Given the description of an element on the screen output the (x, y) to click on. 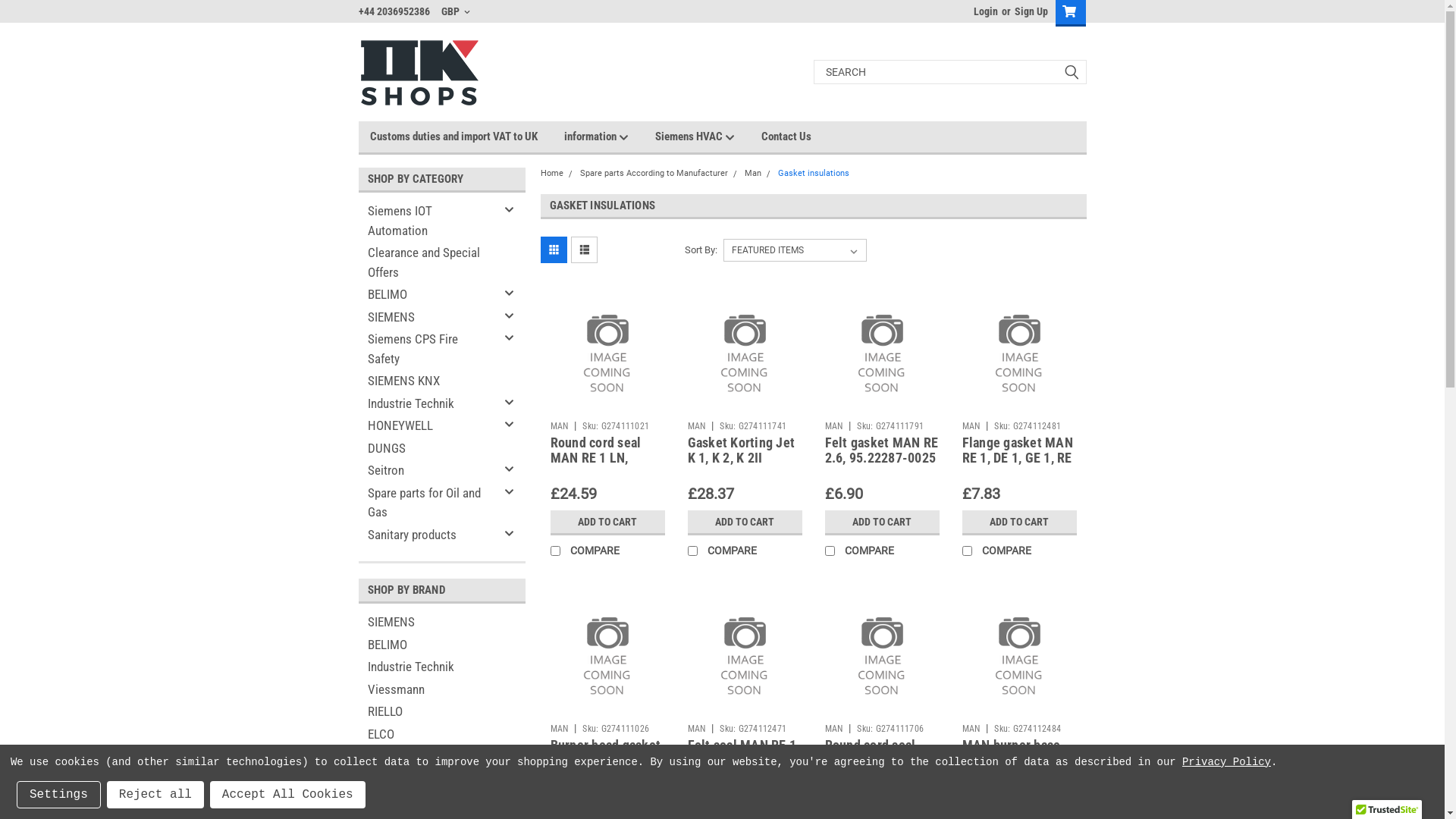
Reject all Element type: text (154, 794)
Gasket insulations Element type: text (813, 173)
Industrie Technik Element type: text (441, 666)
Sku: G274111026 Element type: text (615, 728)
MAN Element type: text (970, 425)
MAN Element type: text (834, 728)
HONEYWELL Element type: text (428, 425)
Siemens IOT Automation Element type: text (428, 220)
Sku: G274111021 Element type: text (615, 425)
Sku: G274111706 Element type: text (889, 728)
MAN Element type: text (559, 728)
ELCO Element type: text (441, 734)
GROHE Element type: text (441, 778)
Viessmann Element type: text (441, 688)
submit Element type: hover (1070, 71)
BELIMO Element type: text (428, 294)
MAN burner base plate seal GWB 28 96.00025-1220 Element type: text (1012, 760)
RIELLO Element type: text (441, 711)
Industrie Technik Element type: text (428, 403)
Seitron Element type: text (428, 470)
DUNGS Element type: text (428, 447)
ADD TO CART Element type: text (607, 521)
Privacy Policy Element type: text (1226, 762)
Sanitary products Element type: text (428, 534)
MAN Element type: text (834, 425)
ADD TO CART Element type: text (1018, 521)
Home Element type: text (550, 173)
Sku: G274112484 Element type: text (1027, 728)
Man Element type: text (752, 173)
Settings Element type: text (58, 794)
SIEMENS Element type: text (428, 317)
Felt seal MAN RE 1 95.22287-0041 Element type: text (741, 752)
Siemens CPS Fire Safety Element type: text (428, 349)
ADD TO CART Element type: text (882, 521)
Buderus Element type: text (441, 801)
2kshops Heating and Cooling (HVAC) supplies Element type: hover (418, 71)
Flange gasket MAN RE 1, DE 1, GE 1, RE 1 LN, 95.22287-0031 Element type: text (1016, 464)
Clearance and Special Offers Element type: text (428, 262)
Contact Us Element type: text (799, 136)
Sku: G274111741 Element type: text (752, 425)
MAN Element type: text (696, 728)
BELIMO Element type: text (441, 644)
Login Element type: text (985, 11)
Burner head gasket MAN RE 1.19 H- 1.70 H, 95.22287-0040 Element type: text (605, 768)
Felt gasket MAN RE 2.6, 95.22287-0025 Element type: text (881, 449)
GBP Element type: text (455, 11)
ADD TO CART Element type: text (744, 521)
Gasket Korting Jet K 1, K 2, K 2II 782756 Element type: text (740, 457)
DUNGS Element type: text (441, 756)
MAN Element type: text (970, 728)
Sku: G274111791 Element type: text (889, 425)
MAN Element type: text (559, 425)
SIEMENS Element type: text (441, 622)
Sign Up Element type: text (1028, 11)
Round cord seal MAN RE 1 LN, 95.2287-0035 Element type: text (595, 457)
MAN Element type: text (696, 425)
Siemens HVAC Element type: text (708, 136)
Spare parts for Oil and Gas Element type: text (428, 503)
Customs duties and import VAT to UK Element type: text (467, 136)
Sku: G274112481 Element type: text (1027, 425)
SIEMENS KNX Element type: text (428, 381)
Accept All Cookies Element type: text (287, 794)
Round cord seal MAN RZ 2 95.22287-1007 Element type: text (870, 760)
Spare parts According to Manufacturer Element type: text (653, 173)
Sku: G274112471 Element type: text (752, 728)
information Element type: text (609, 136)
